Given the description of an element on the screen output the (x, y) to click on. 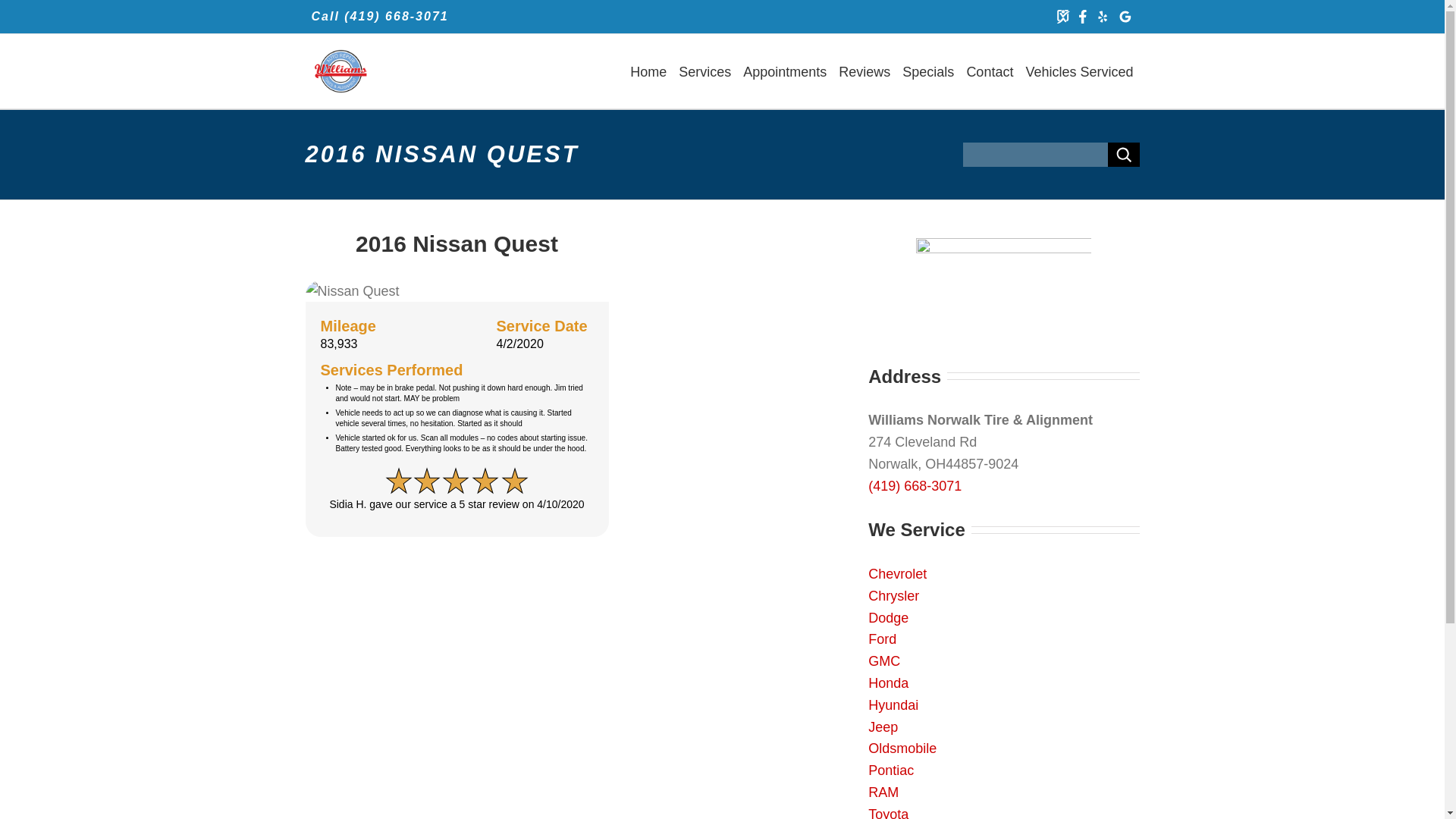
Vehicles Serviced (1078, 71)
Yelp (1101, 16)
Appointments (784, 71)
SureCritic (1063, 16)
